Given the description of an element on the screen output the (x, y) to click on. 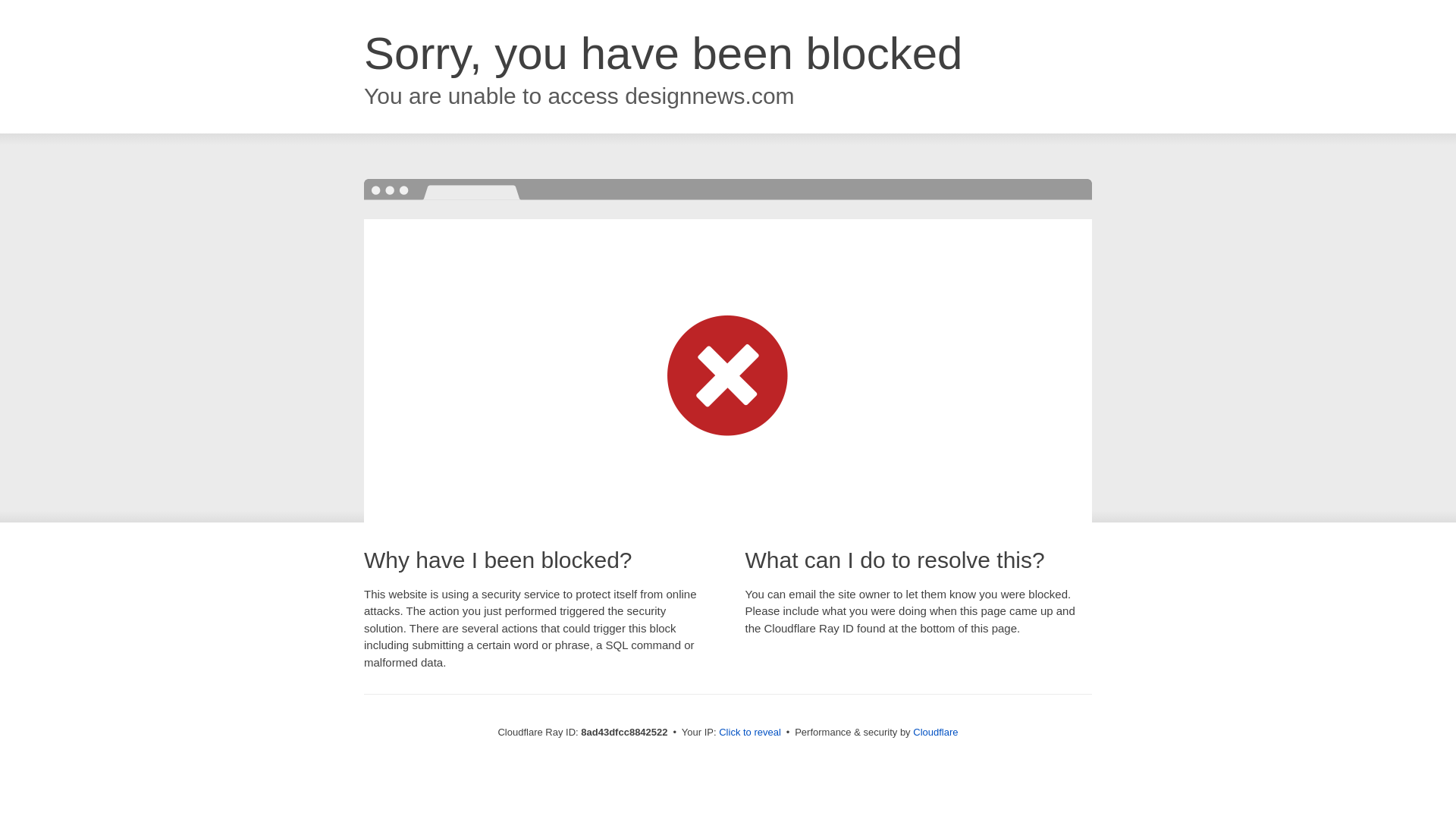
Cloudflare (935, 731)
Click to reveal (749, 732)
